Given the description of an element on the screen output the (x, y) to click on. 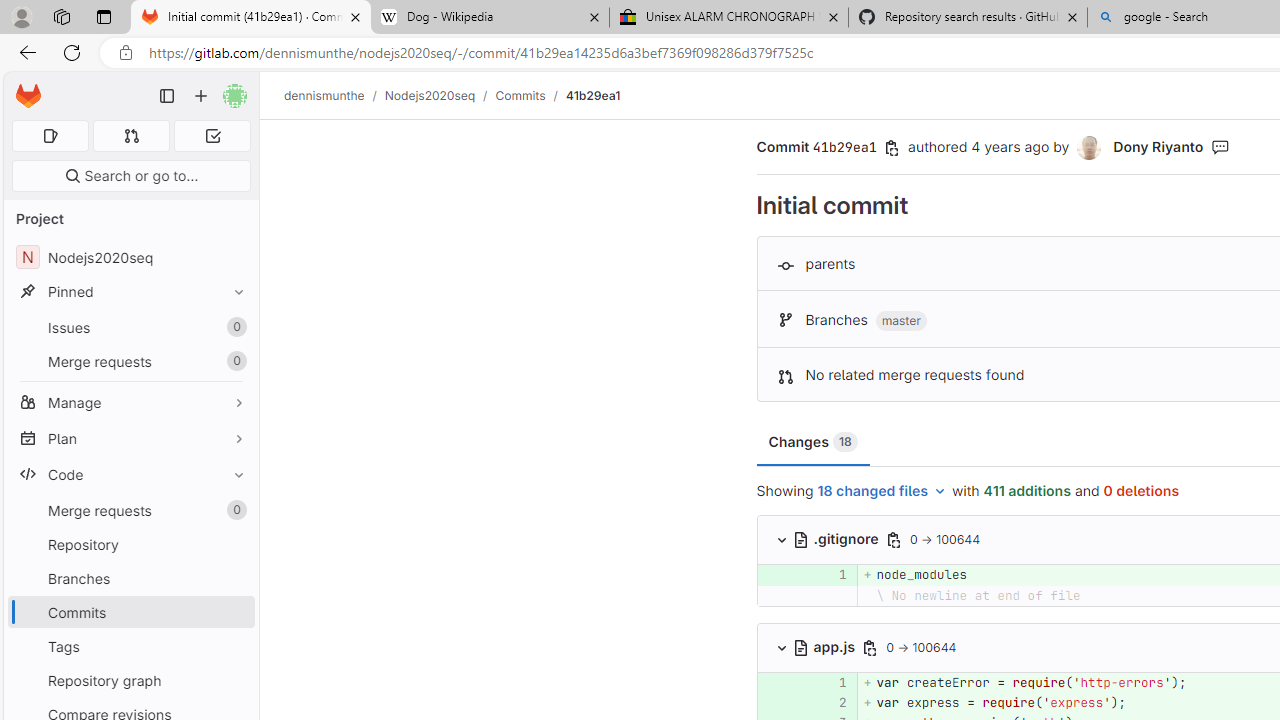
Plan (130, 438)
Class: s16 chevron-down (781, 647)
Homepage (27, 96)
Dony Riyanto's avatar (1089, 148)
Dony Riyanto's avatar (1090, 148)
Class: s16 gl-icon gl-button-icon  (870, 647)
Pin Commits (234, 611)
Commits (130, 612)
Merge requests 0 (131, 136)
Class: s12 (757, 700)
2 (831, 701)
Assigned issues 0 (50, 136)
Dog - Wikipedia (490, 17)
